Given the description of an element on the screen output the (x, y) to click on. 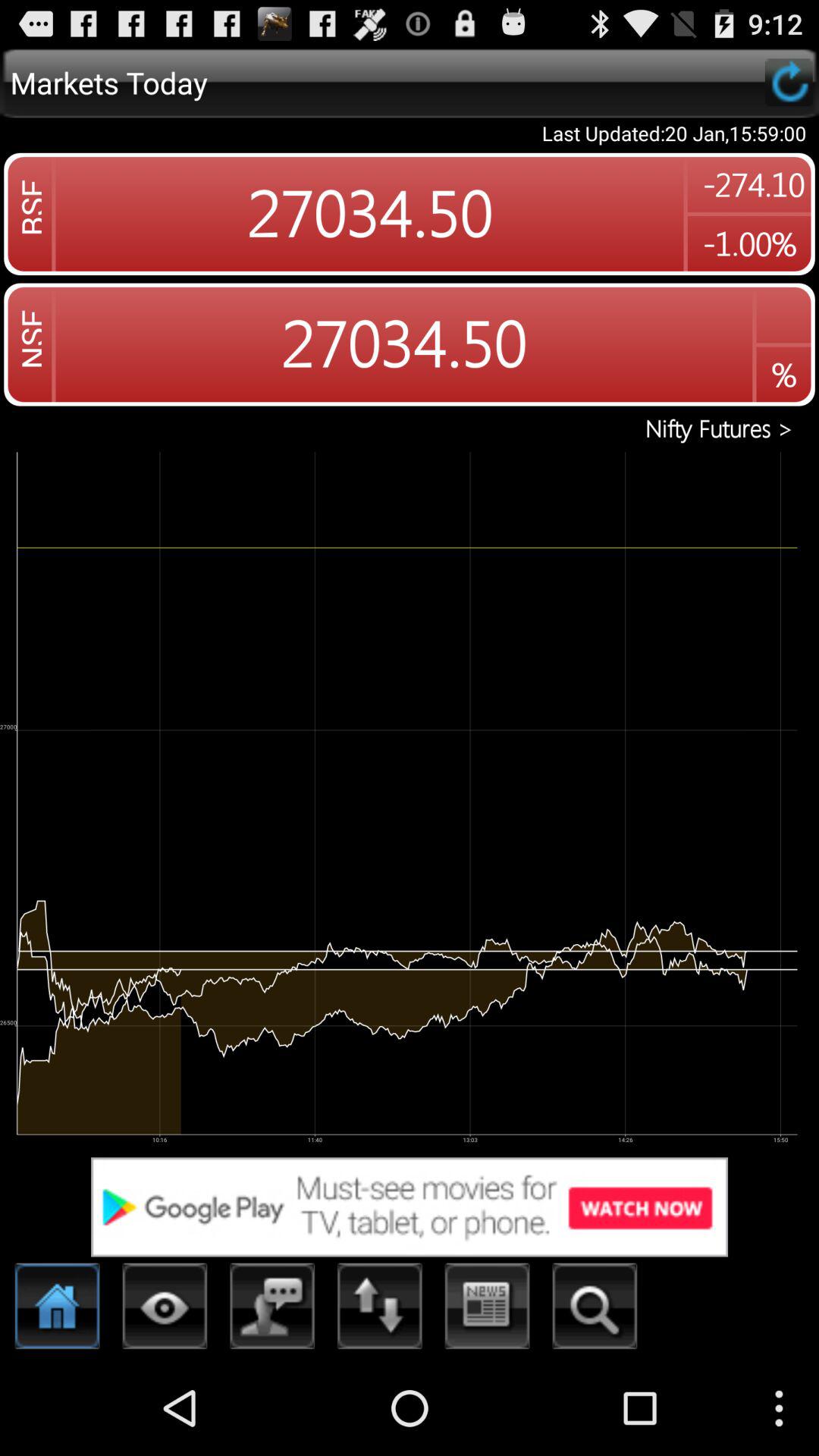
change view (164, 1310)
